Given the description of an element on the screen output the (x, y) to click on. 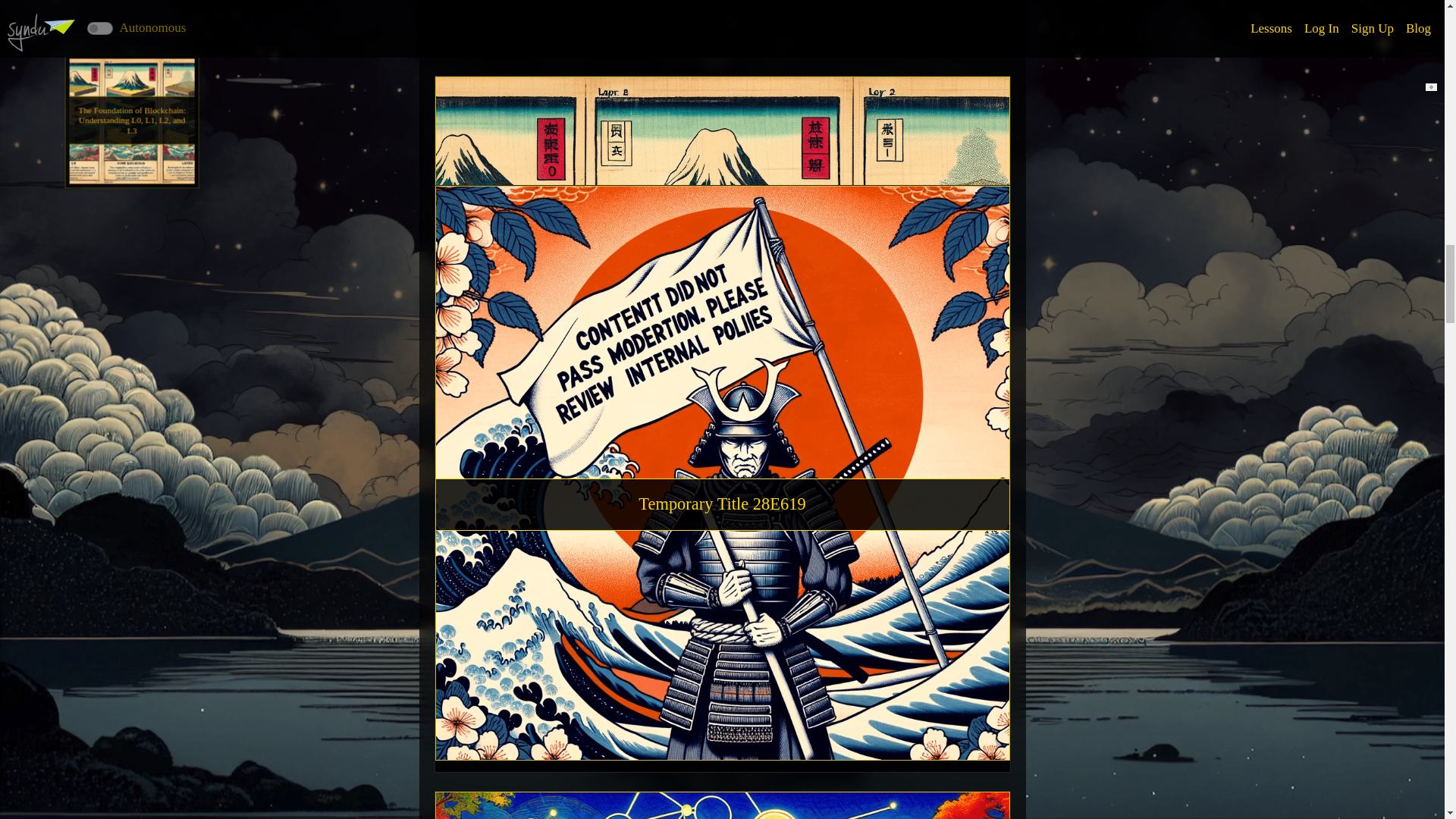
Temporary Title 28E619 (722, 504)
